Given the description of an element on the screen output the (x, y) to click on. 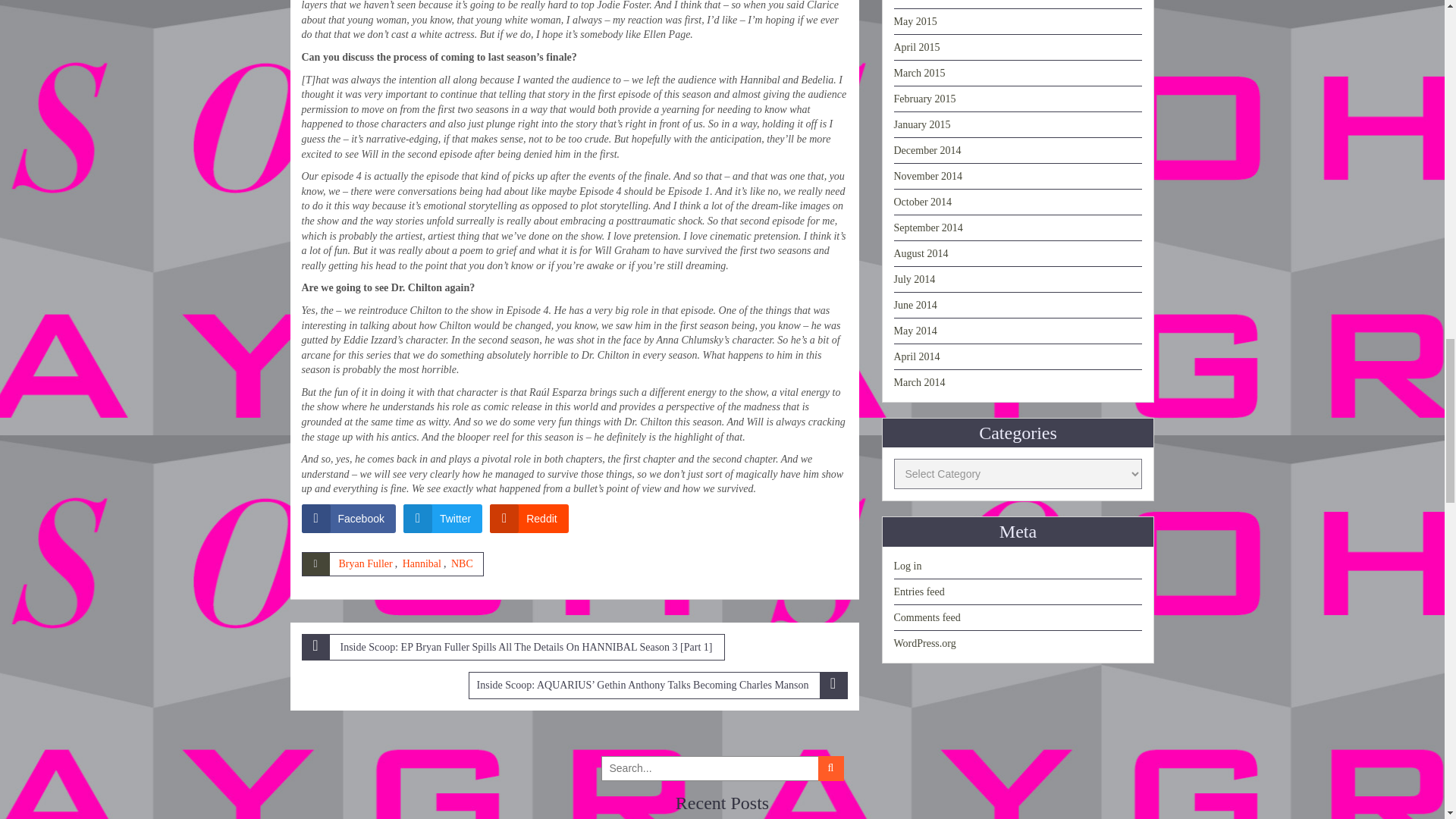
Reddit (528, 518)
Twitter (442, 518)
NBC (462, 563)
Bryan Fuller (364, 563)
Hannibal (422, 563)
Facebook (348, 518)
